Given the description of an element on the screen output the (x, y) to click on. 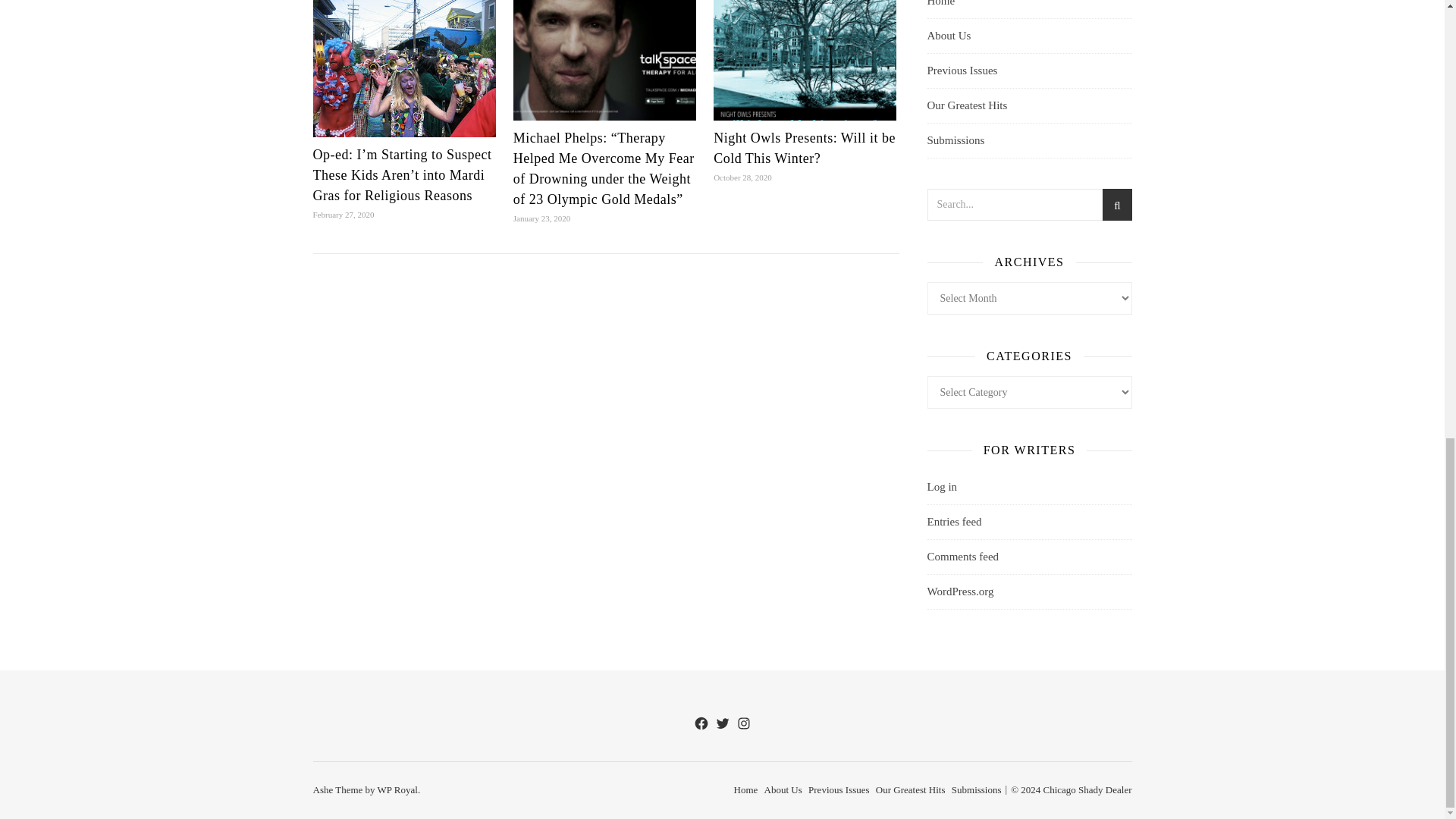
Night Owls Presents: Will it be Cold This Winter? (804, 148)
